Given the description of an element on the screen output the (x, y) to click on. 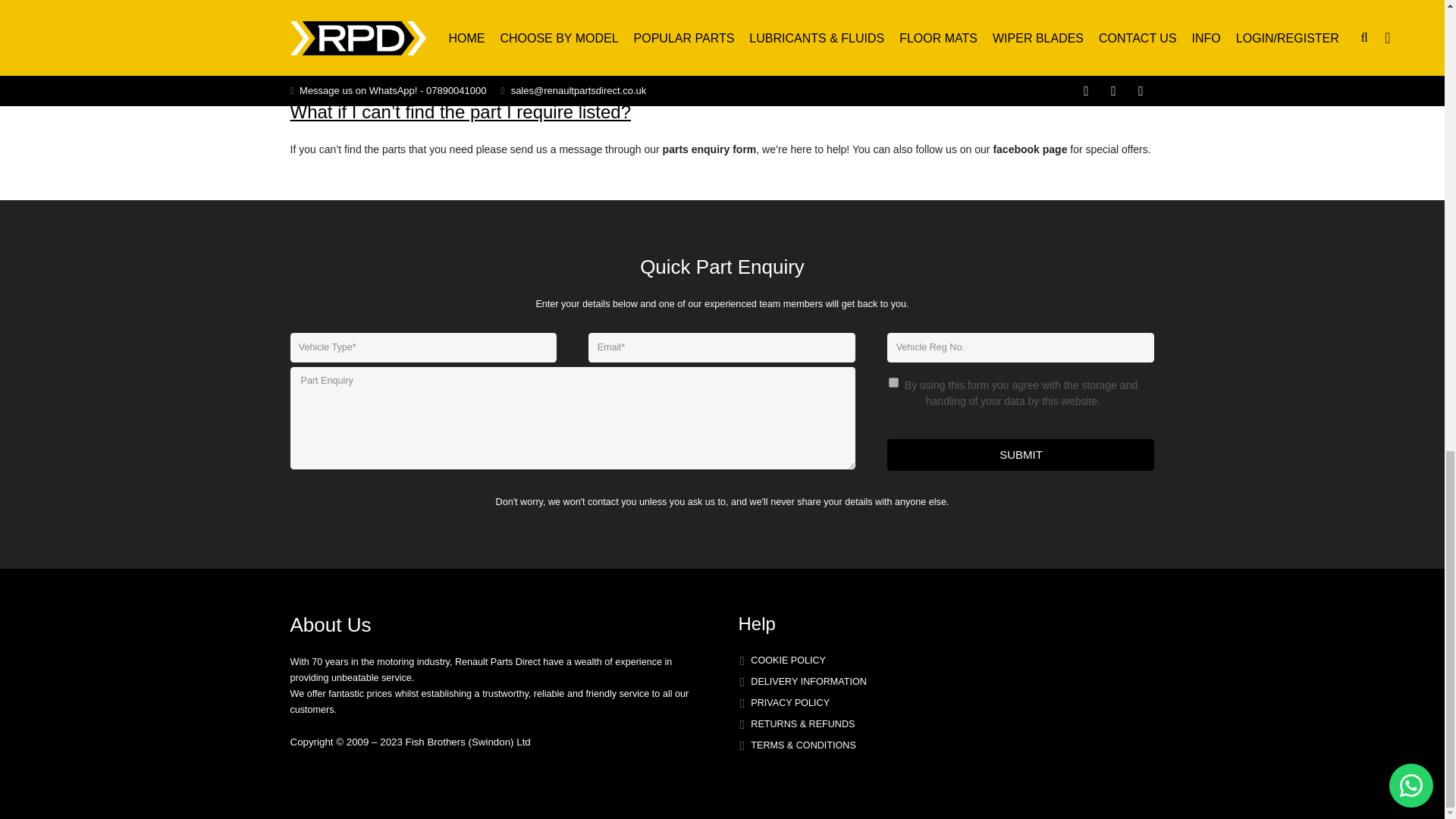
1 (893, 382)
Submit (1020, 454)
